Given the description of an element on the screen output the (x, y) to click on. 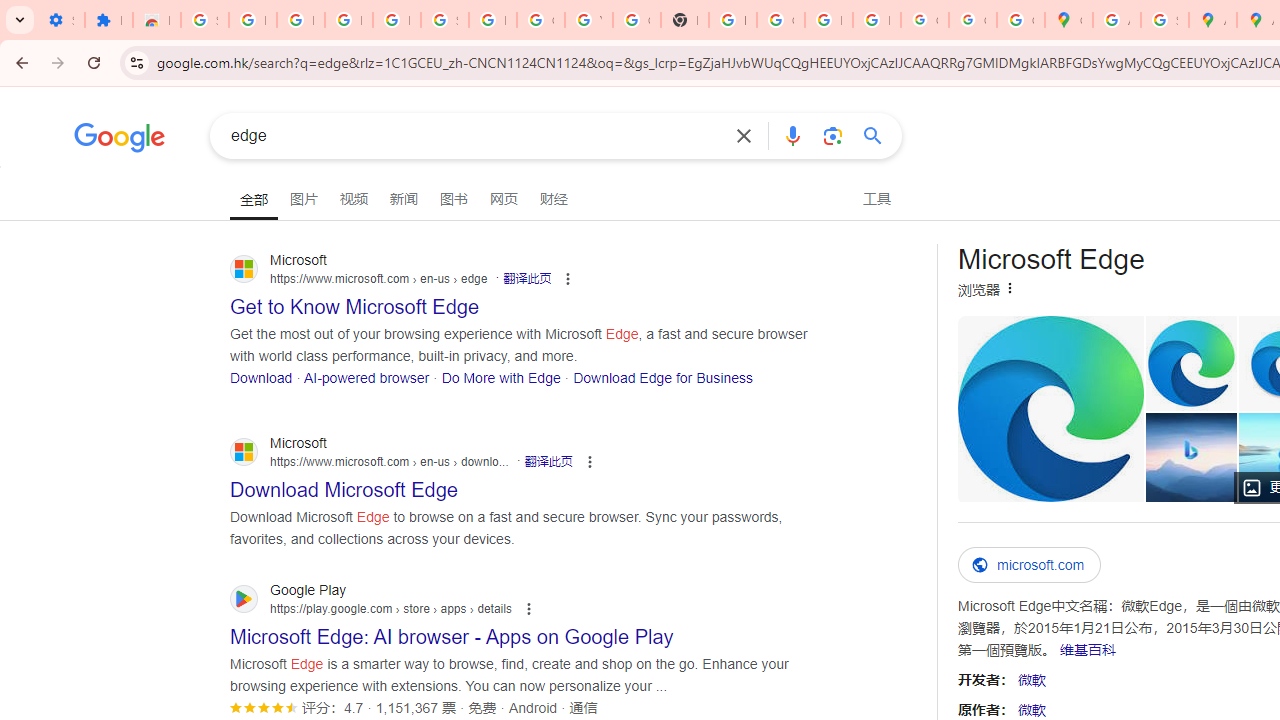
microsoft.com (1029, 565)
Download Edge for Business (662, 376)
Google (120, 139)
Delete photos & videos - Computer - Google Photos Help (300, 20)
Learn how to find your photos - Google Photos Help (348, 20)
